Given the description of an element on the screen output the (x, y) to click on. 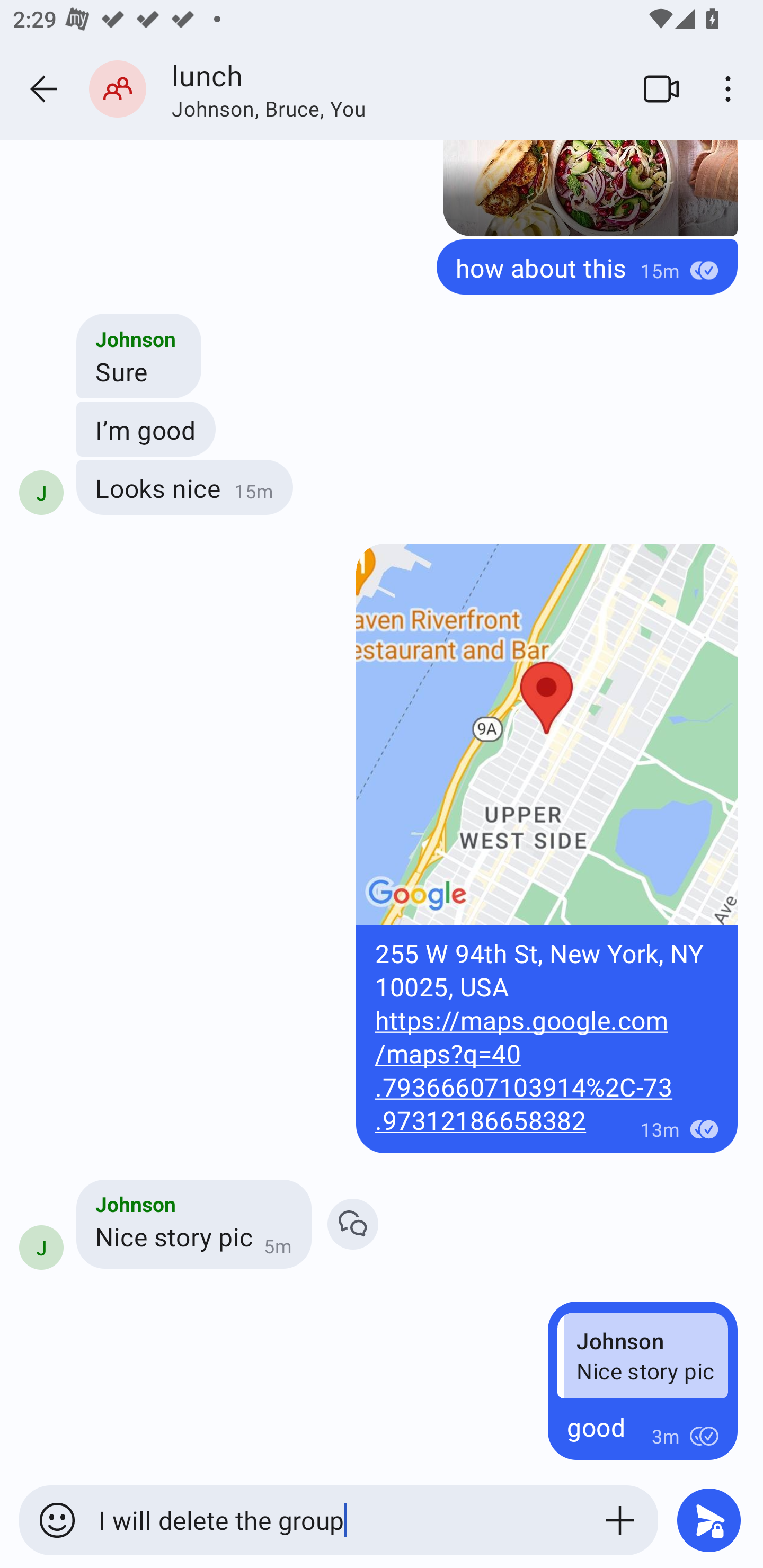
Send message (708, 1520)
